Given the description of an element on the screen output the (x, y) to click on. 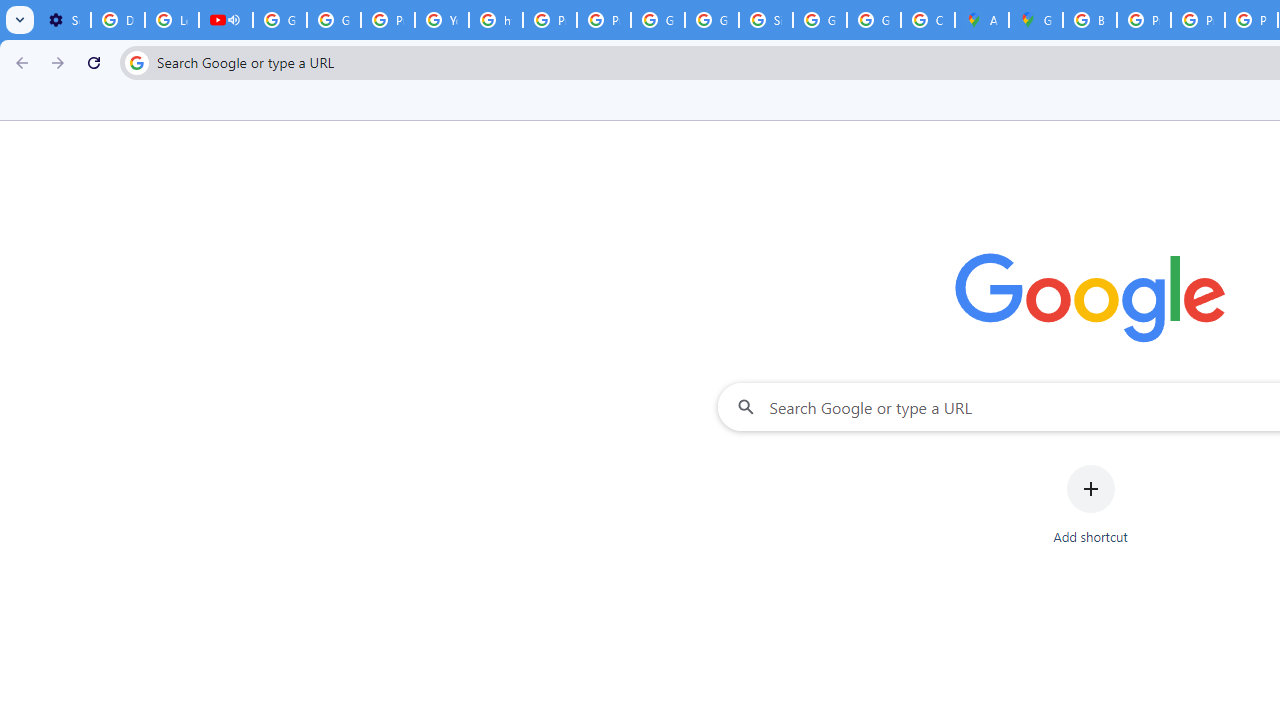
Blogger Policies and Guidelines - Transparency Center (1089, 20)
